Given the description of an element on the screen output the (x, y) to click on. 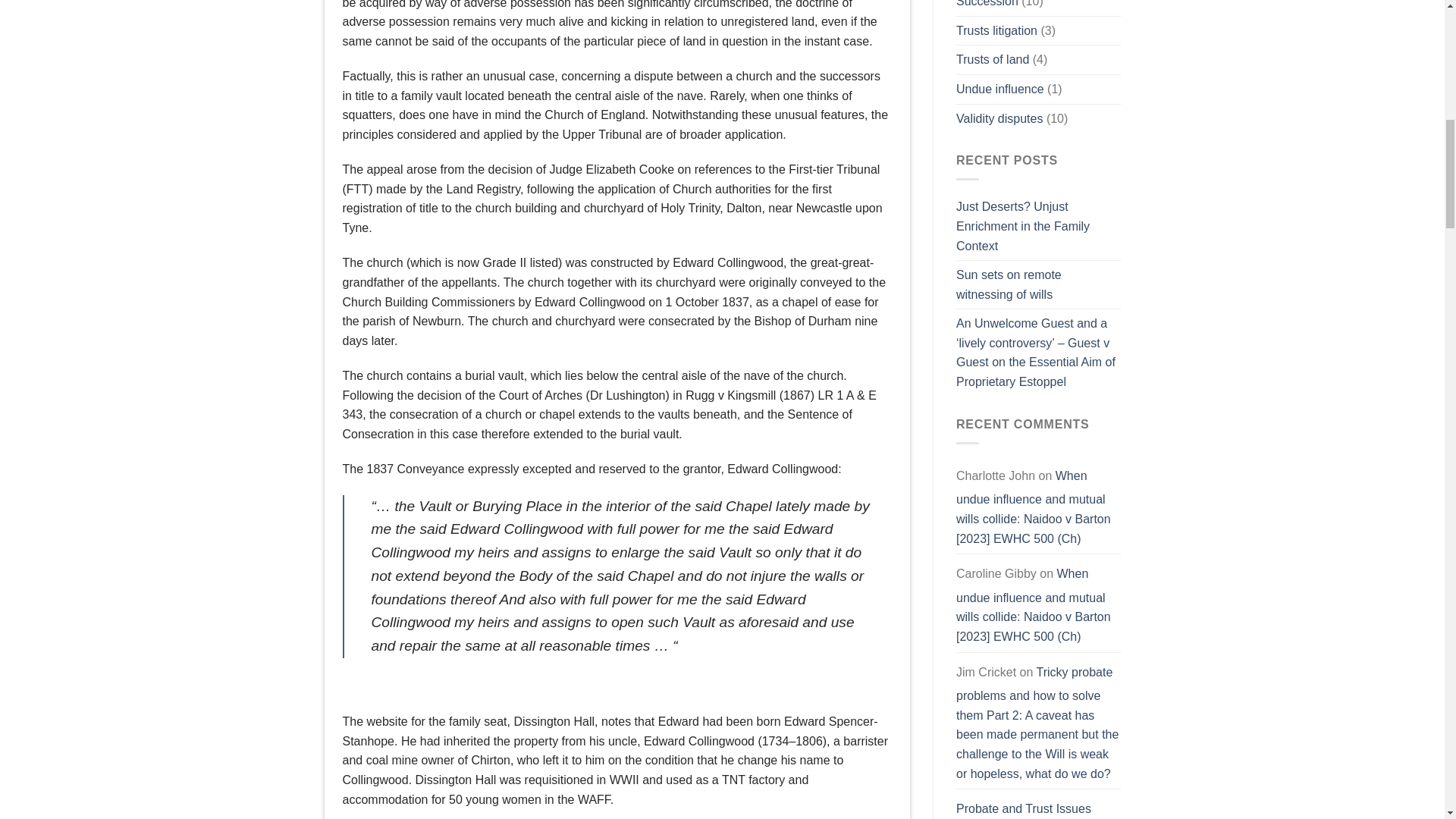
Succession (986, 7)
Dissington Hall (553, 721)
Trusts of land (992, 59)
Trusts litigation (996, 30)
